Given the description of an element on the screen output the (x, y) to click on. 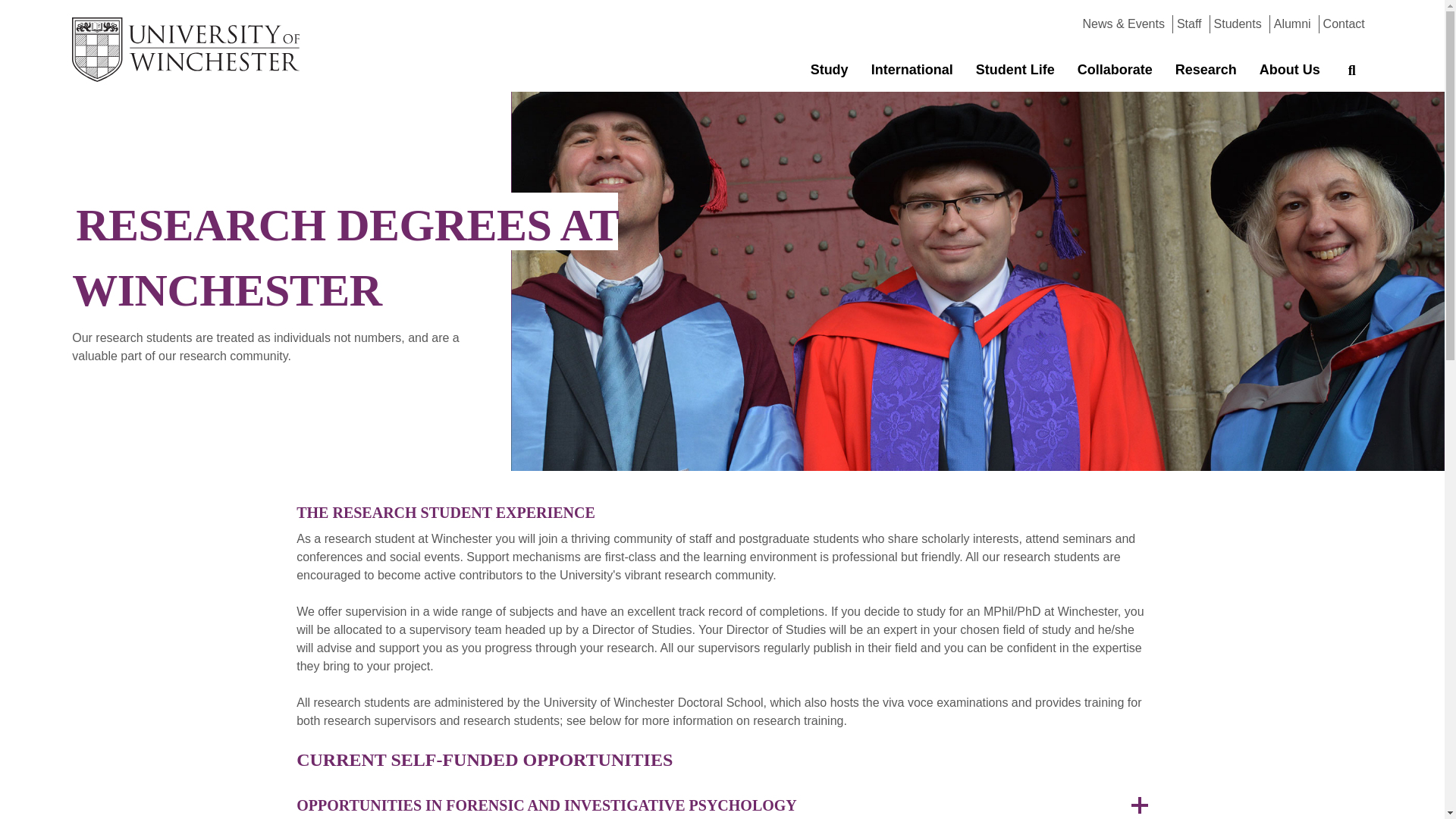
Students (1238, 23)
Study (829, 69)
Staff (1189, 23)
Alumni (1292, 23)
International (911, 69)
Contact (1344, 23)
